Given the description of an element on the screen output the (x, y) to click on. 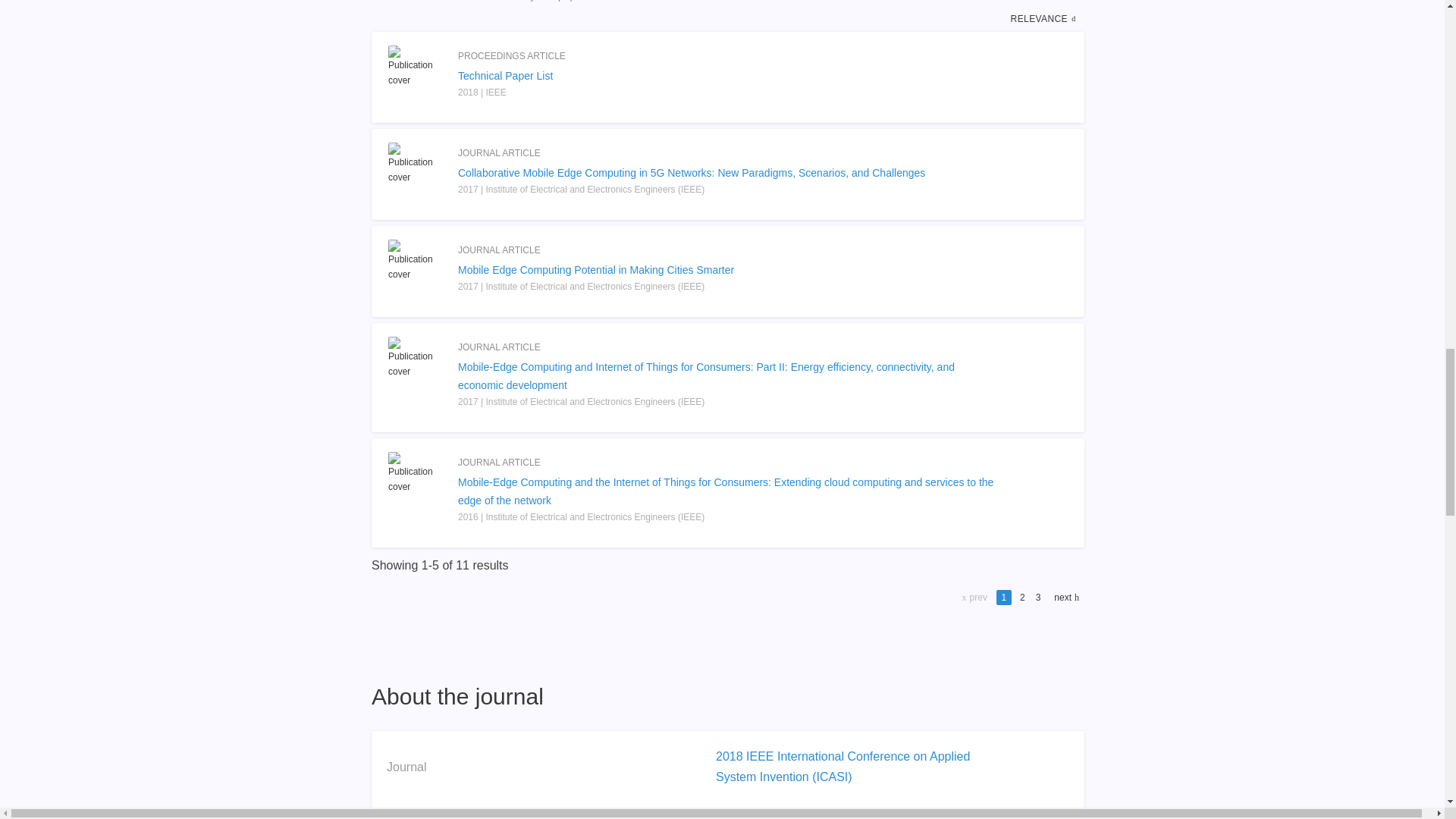
Mobile Edge Computing Potential in Making Cities Smarter (727, 270)
IEEE (729, 817)
next (1064, 597)
Publication cover (415, 357)
Publication cover (415, 260)
Publication cover (415, 473)
1 (1003, 597)
Publication cover (415, 163)
RELEVANCE (1045, 18)
Publication cover (415, 66)
Technical Paper List (727, 75)
